Given the description of an element on the screen output the (x, y) to click on. 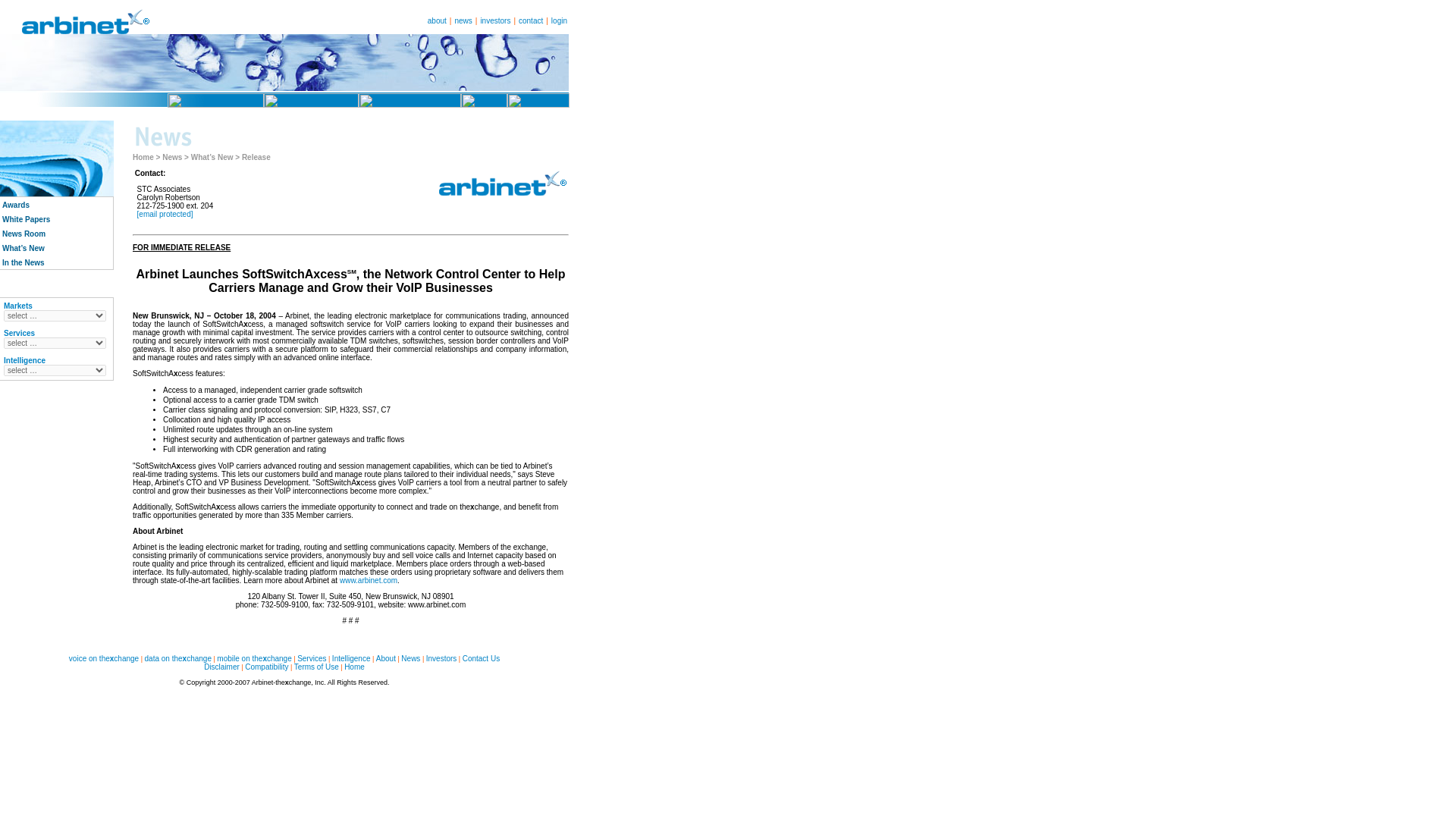
Home (143, 157)
investors (495, 20)
Home (354, 666)
Disclaimer (221, 666)
News (171, 157)
Services (311, 658)
data on thexchange (177, 658)
www.arbinet.com (368, 580)
Compatibility (266, 666)
login (559, 20)
mobile on thexchange (253, 658)
contact (530, 20)
Investors (441, 658)
News (410, 658)
voice on thexchange (103, 658)
